Given the description of an element on the screen output the (x, y) to click on. 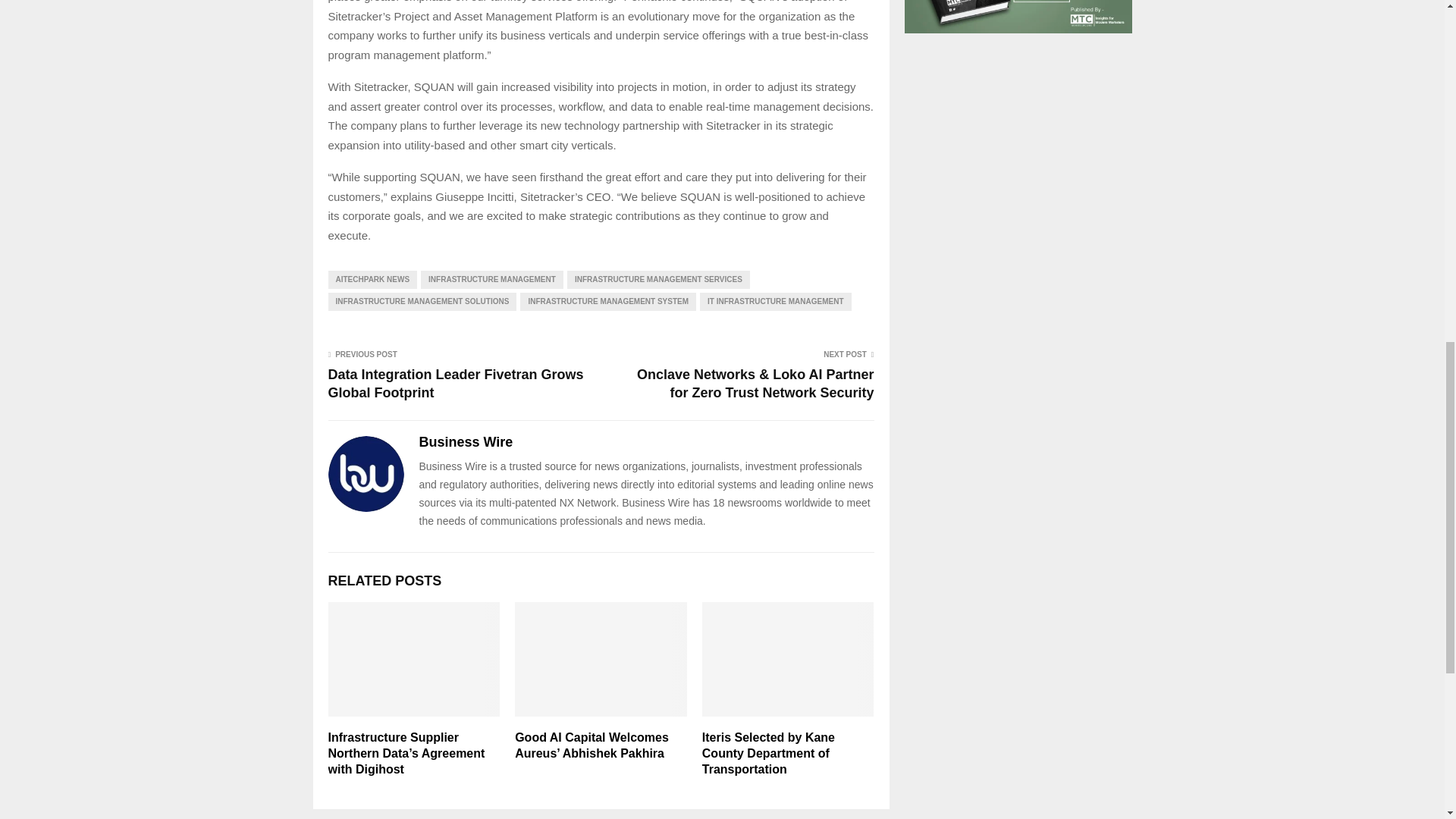
Posts by Business Wire (465, 442)
